Given the description of an element on the screen output the (x, y) to click on. 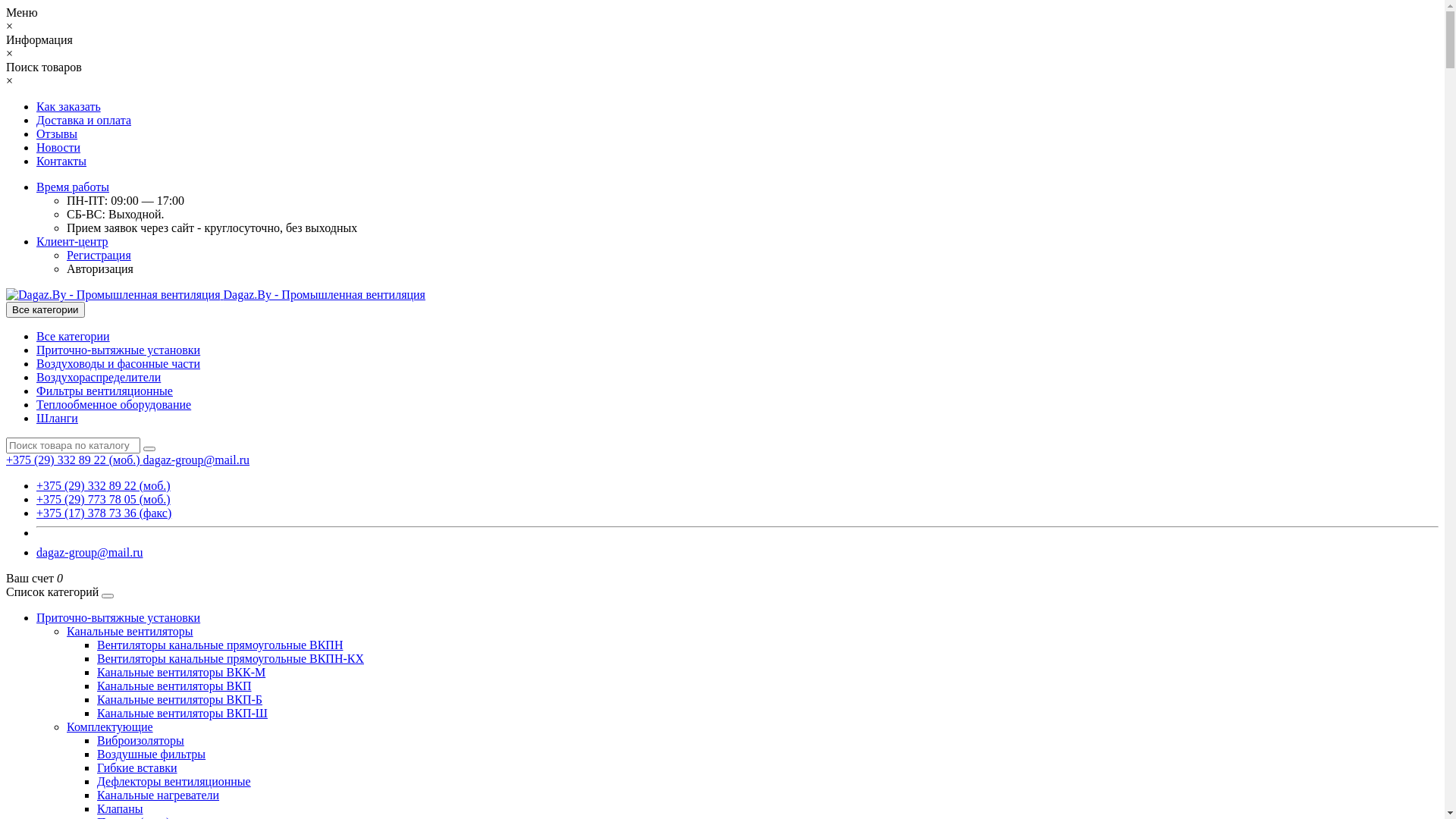
dagaz-group@mail.ru Element type: text (89, 552)
dagaz-group@mail.ru Element type: text (196, 459)
